Given the description of an element on the screen output the (x, y) to click on. 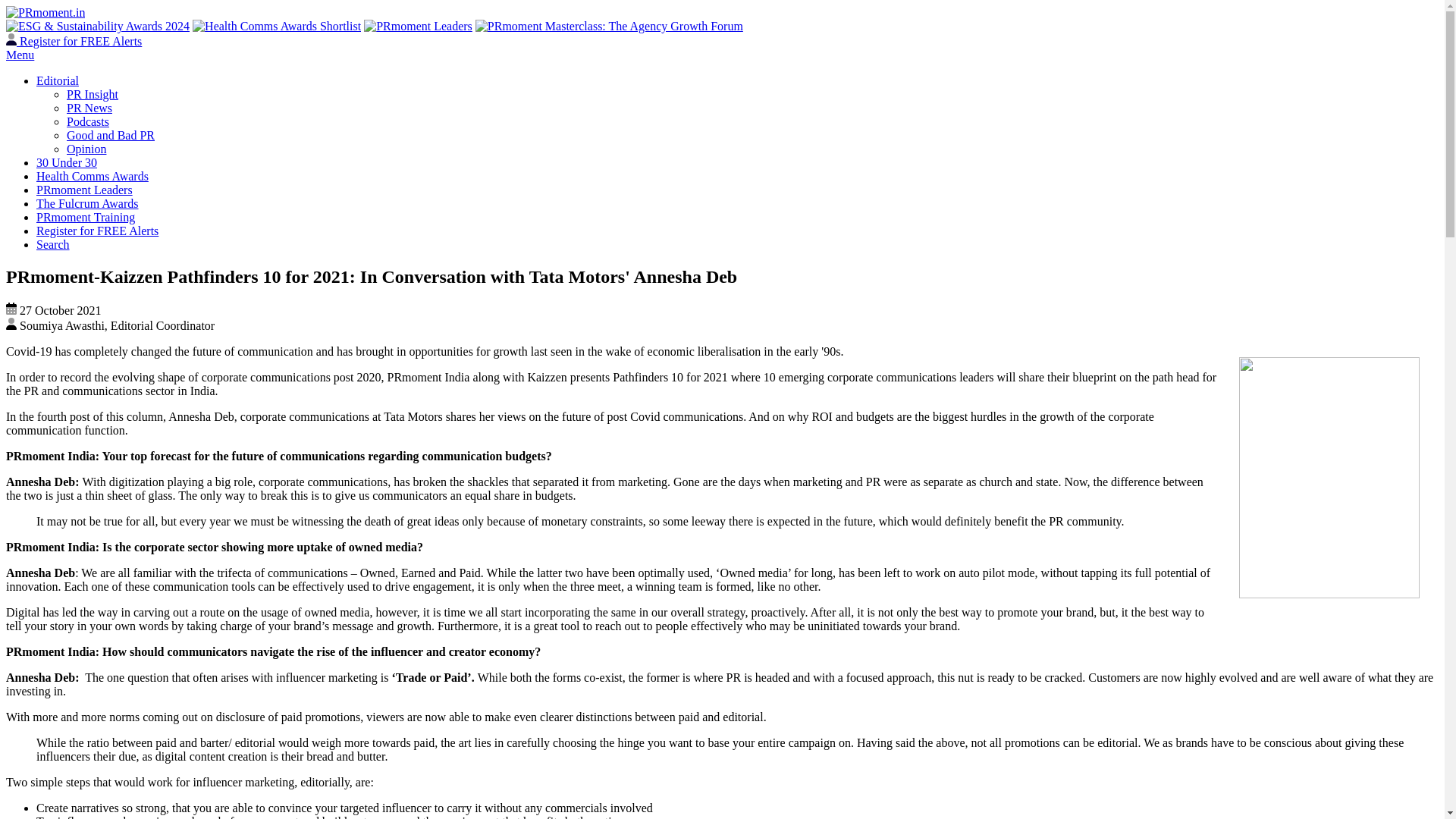
The Fulcrum Awards (87, 203)
Opinion (86, 148)
Podcasts (87, 121)
Register for FREE Alerts (97, 230)
PR Insight (91, 93)
PR News (89, 107)
Health Comms Awards (92, 175)
Register for FREE Alerts (73, 41)
Menu (19, 54)
PRmoment Training (85, 216)
